Given the description of an element on the screen output the (x, y) to click on. 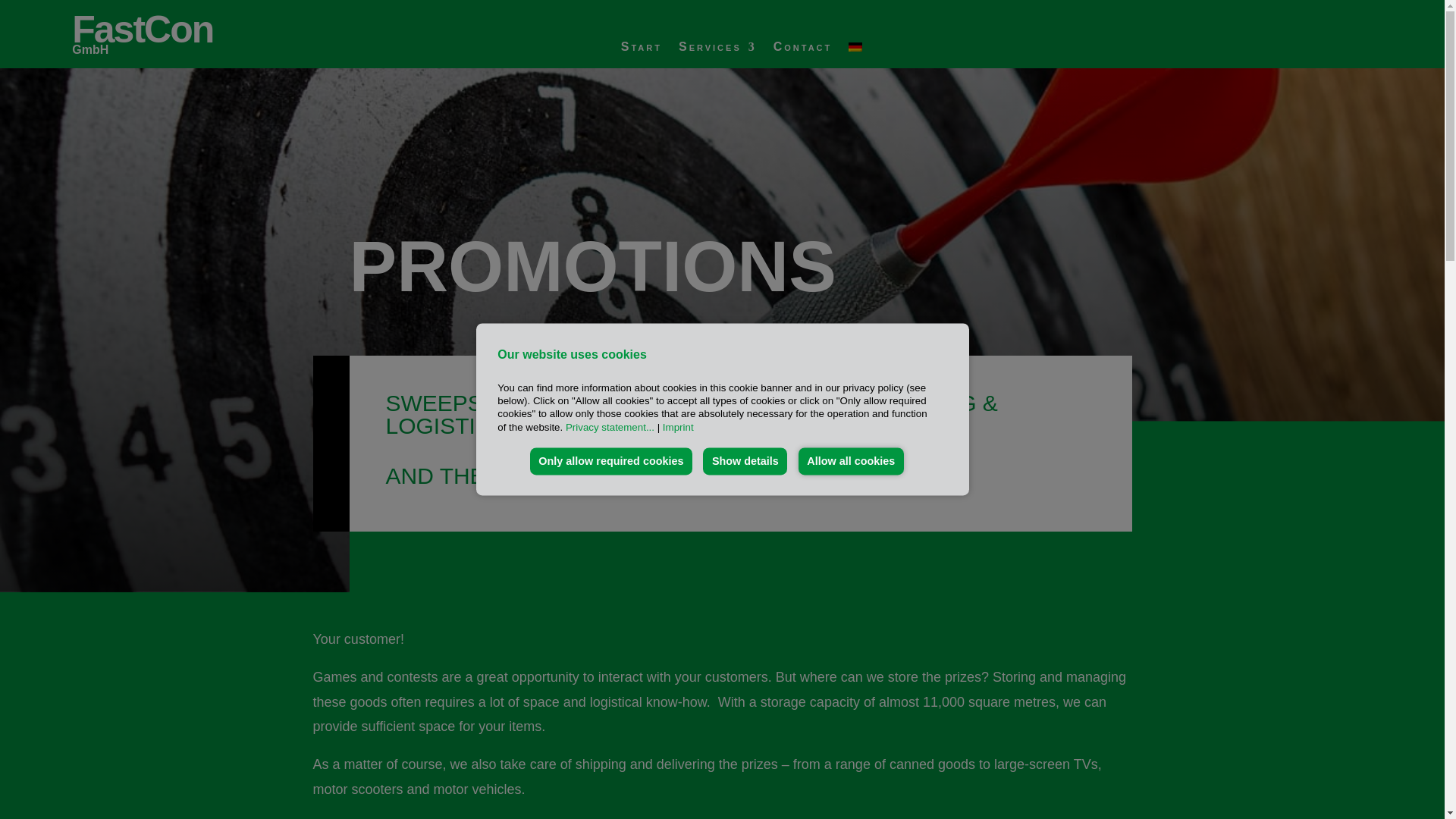
Show details (745, 461)
Privacy statement... (609, 427)
Contact (802, 49)
Imprint (676, 427)
Only allow required cookies (611, 461)
Services (717, 49)
Imprint (676, 427)
Allow all cookies (850, 461)
Privacy statement... (609, 427)
Start (641, 49)
